Given the description of an element on the screen output the (x, y) to click on. 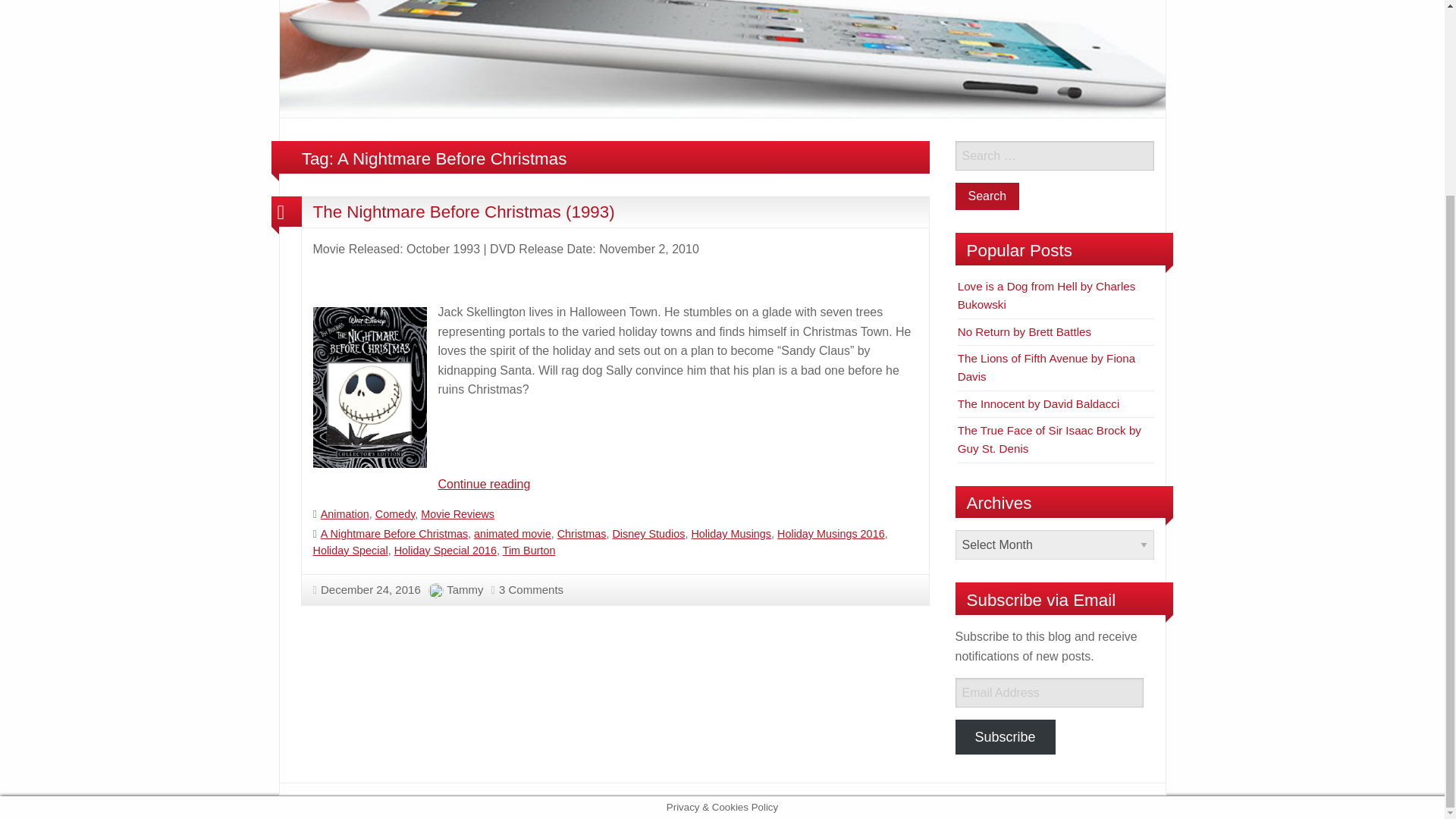
Rabid Reader's Reviews (721, 8)
Search (987, 195)
Search (987, 195)
